Given the description of an element on the screen output the (x, y) to click on. 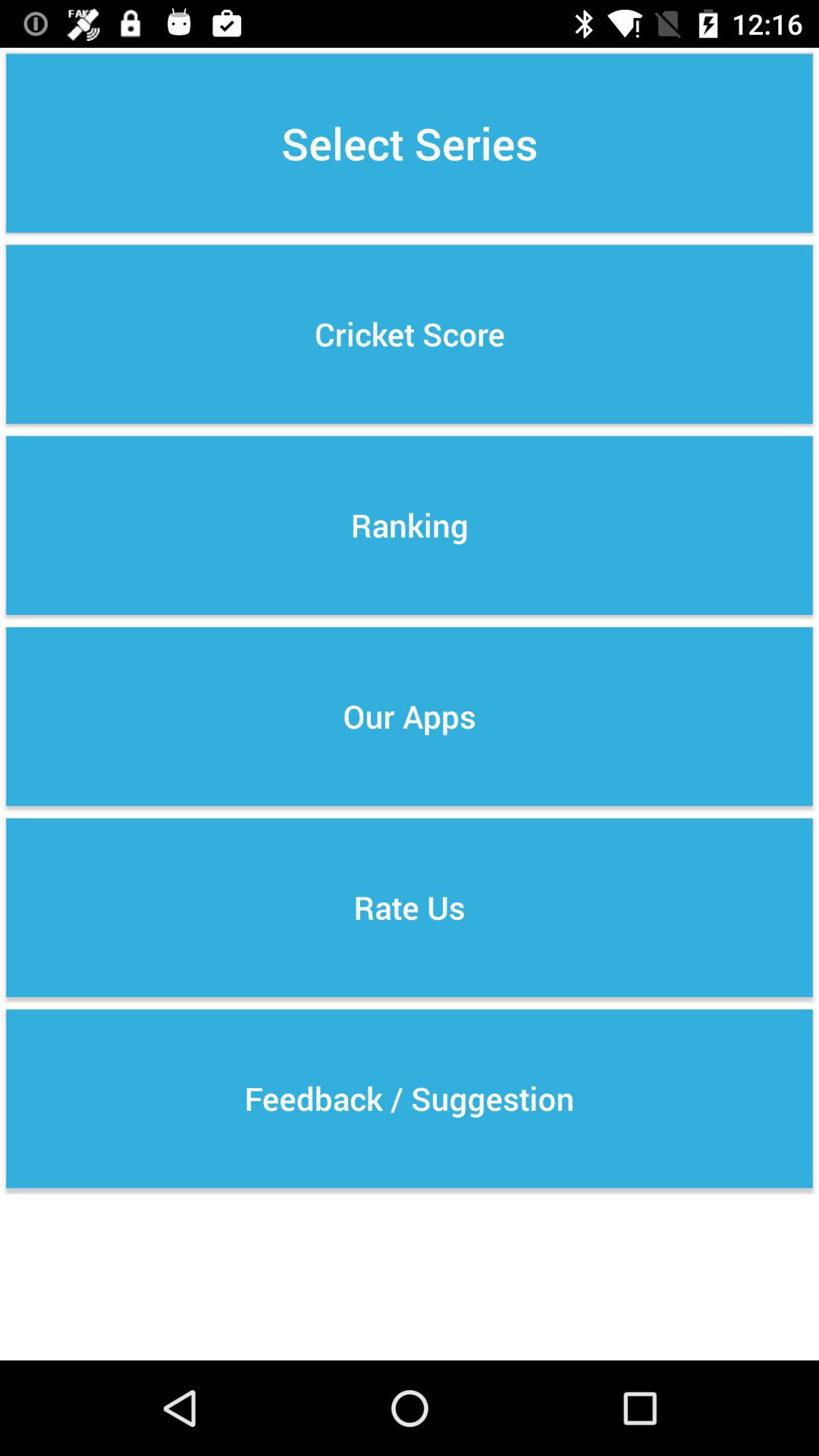
launch the our apps item (409, 716)
